Given the description of an element on the screen output the (x, y) to click on. 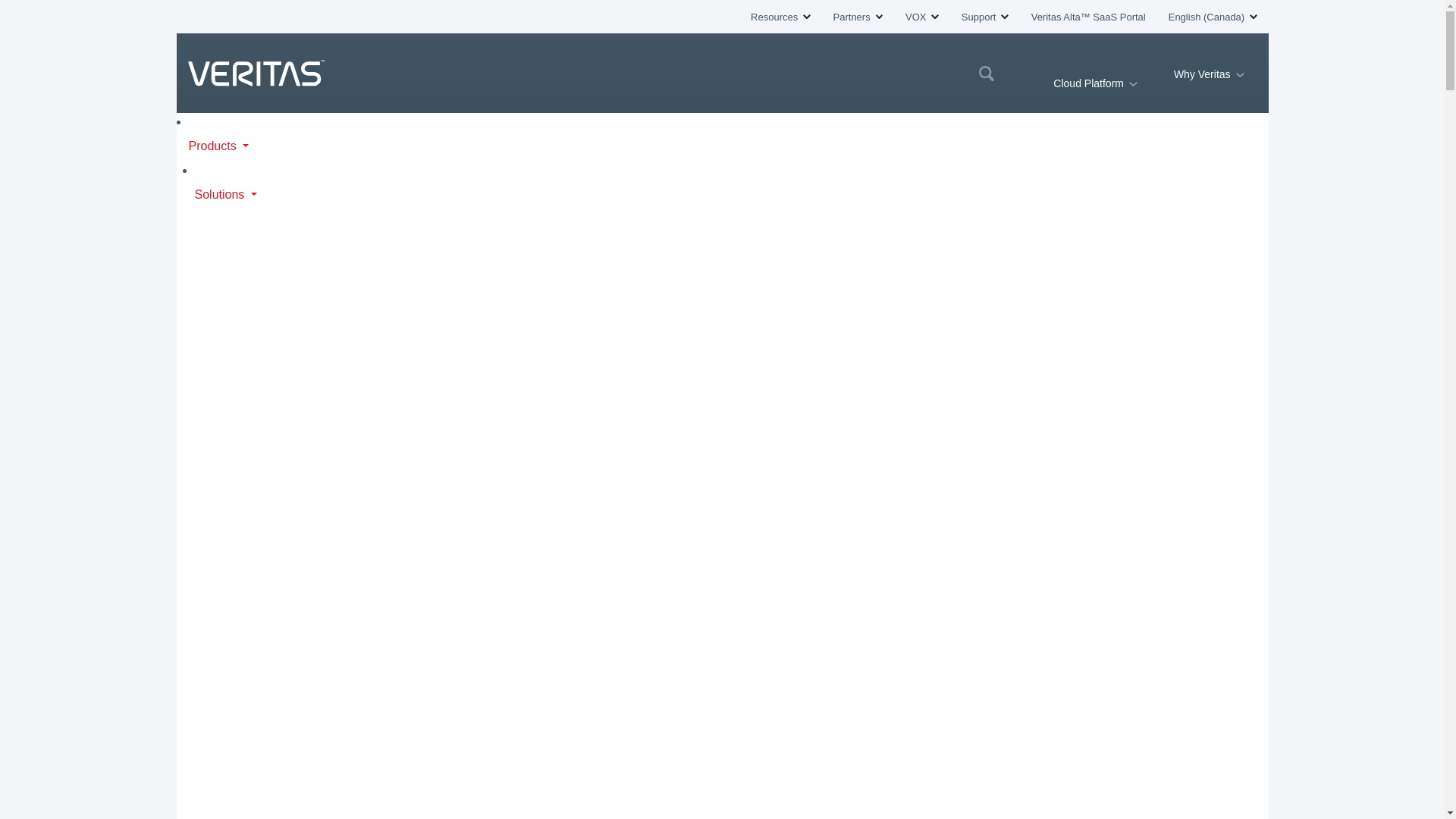
Support (984, 16)
Resources (780, 16)
VOX (922, 16)
Partners (857, 16)
